Given the description of an element on the screen output the (x, y) to click on. 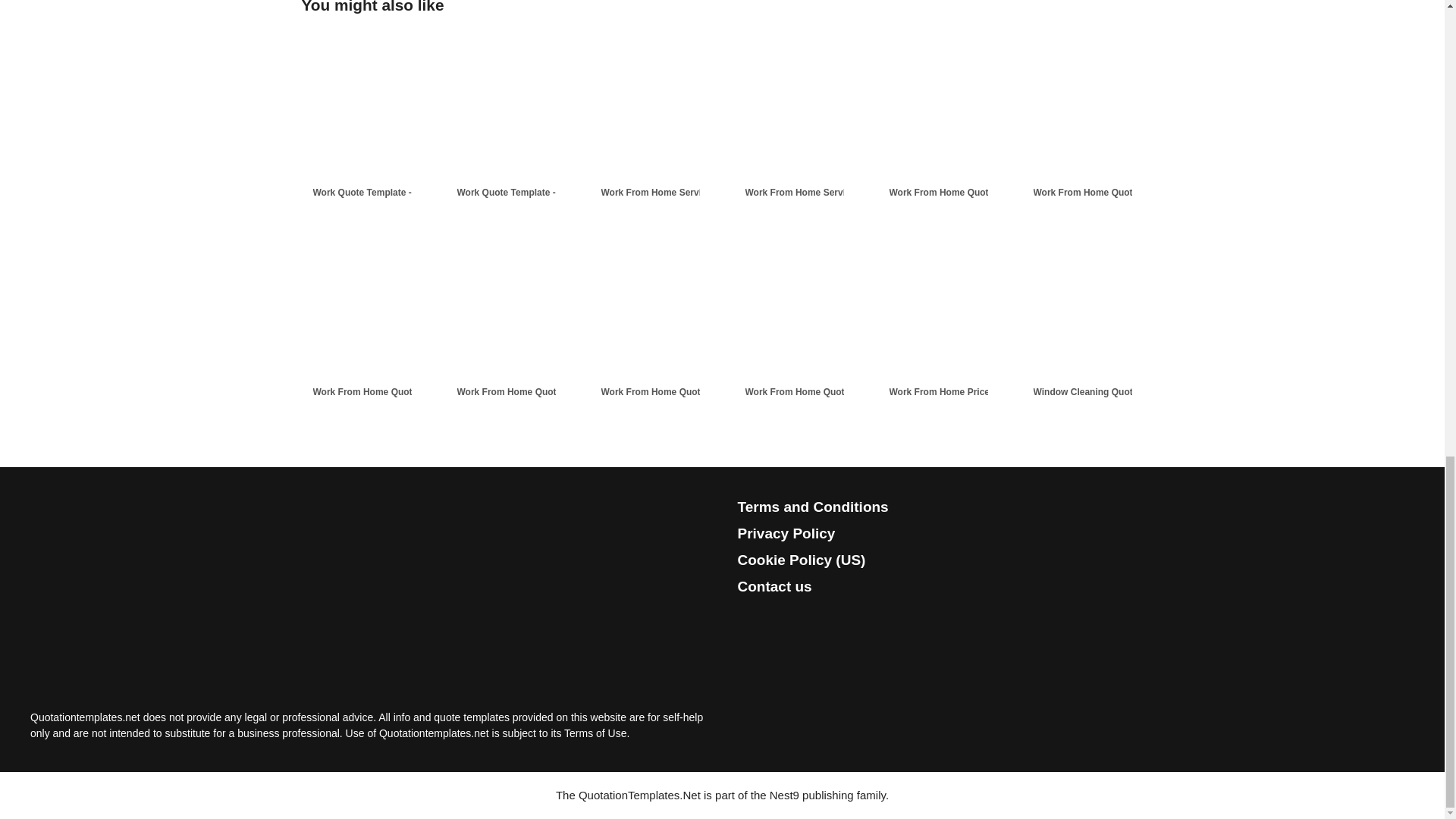
Work From Home Quote Template - GRN - 220915 (678, 391)
Work From Home Service Quote Template - 220921 - GRN (822, 192)
Work From Home Quote Template - 220920 - GRY (534, 391)
Work From Home Quote Template - BLK (390, 391)
Work From Home Price Quote Template - 220922 - BRN (966, 391)
Scroll back to top (1406, 501)
Work From Home Service Quote Template - DBRN - 220923 (678, 192)
Work Quote Template - 220920 - PNK (534, 192)
Work Quote Template - BLK (372, 192)
Window Cleaning Quote Template - RED (1110, 391)
